Given the description of an element on the screen output the (x, y) to click on. 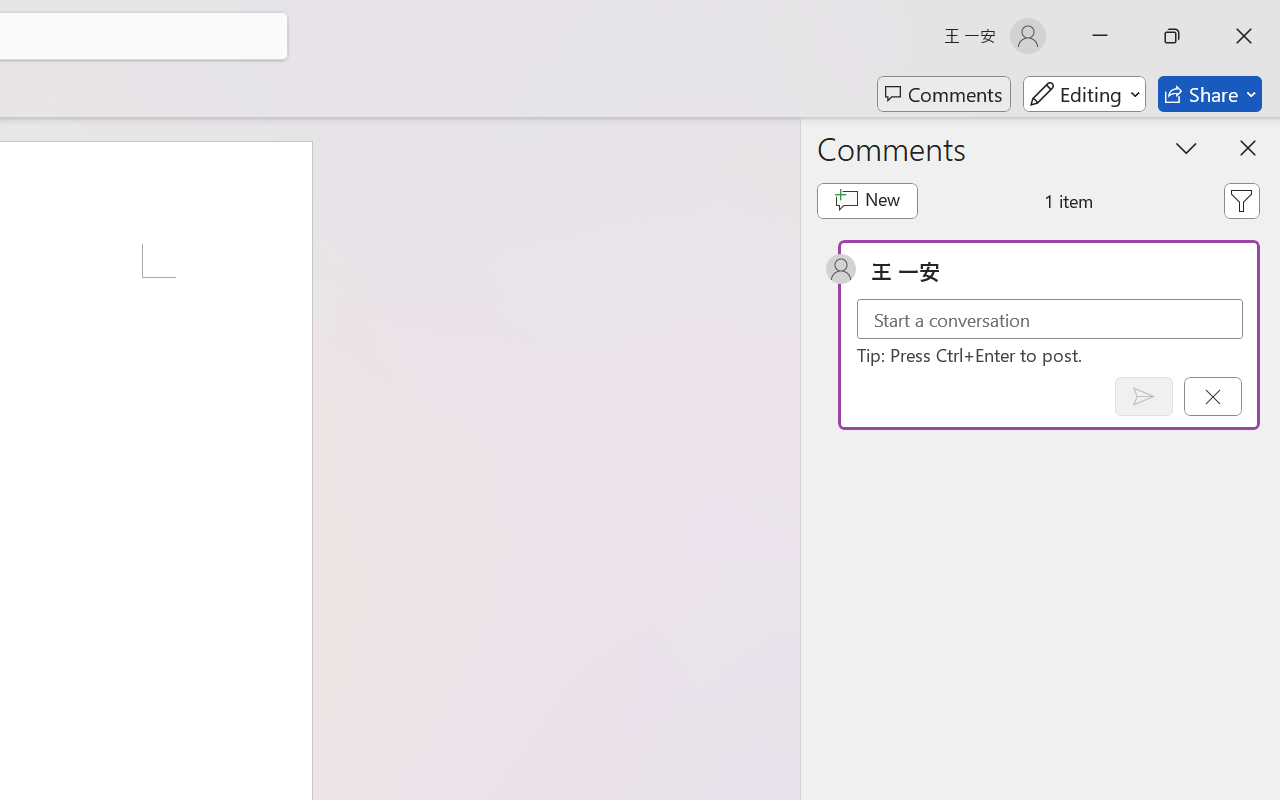
Cancel (1212, 396)
New comment (866, 201)
Start a conversation (1050, 319)
Filter (1241, 201)
Post comment (Ctrl + Enter) (1143, 396)
